Given the description of an element on the screen output the (x, y) to click on. 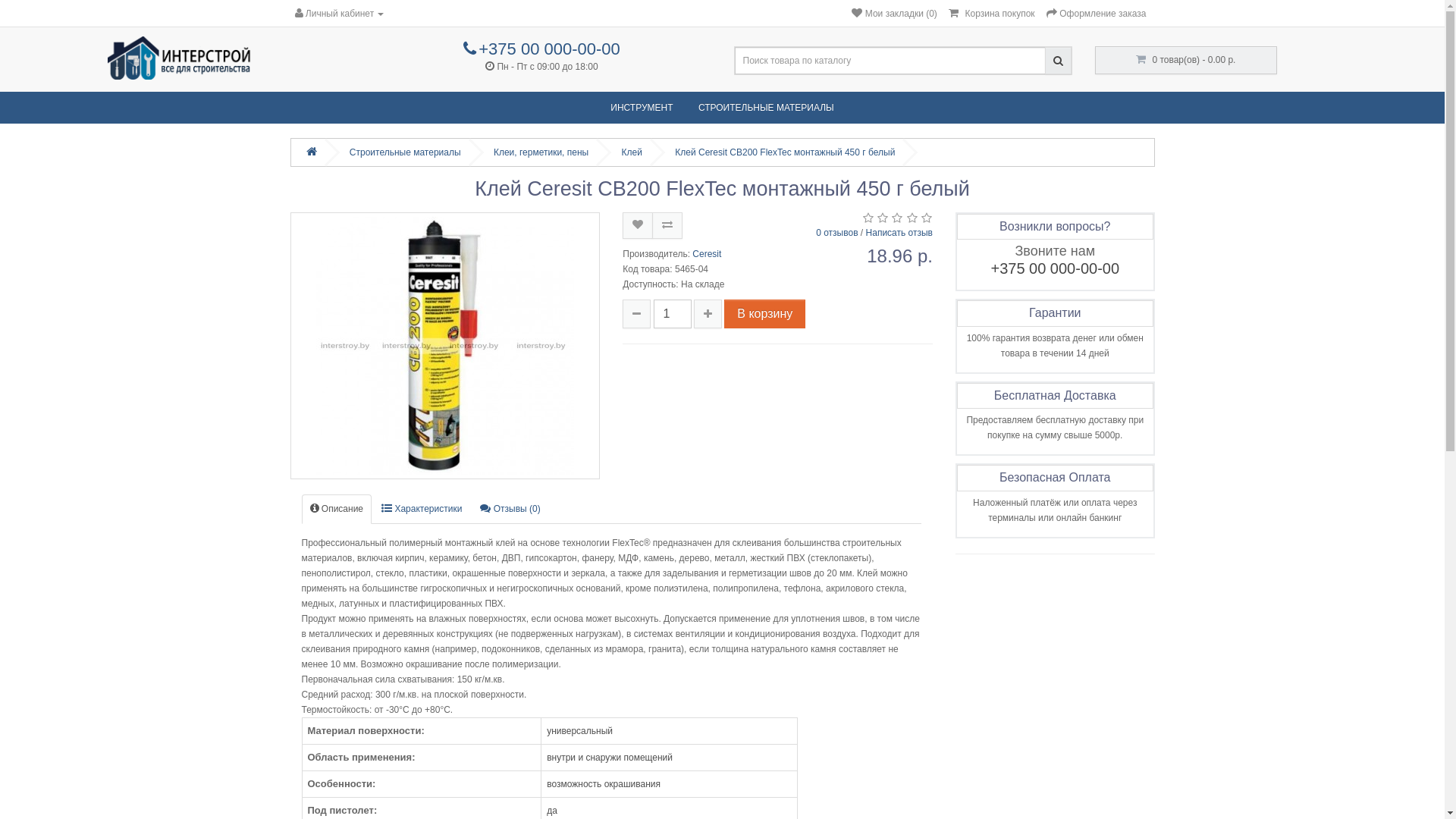
Ceresit Element type: text (706, 253)
+375 00 000-00-00 Element type: text (1054, 268)
+375 00 000-00-00 Element type: text (541, 51)
